Given the description of an element on the screen output the (x, y) to click on. 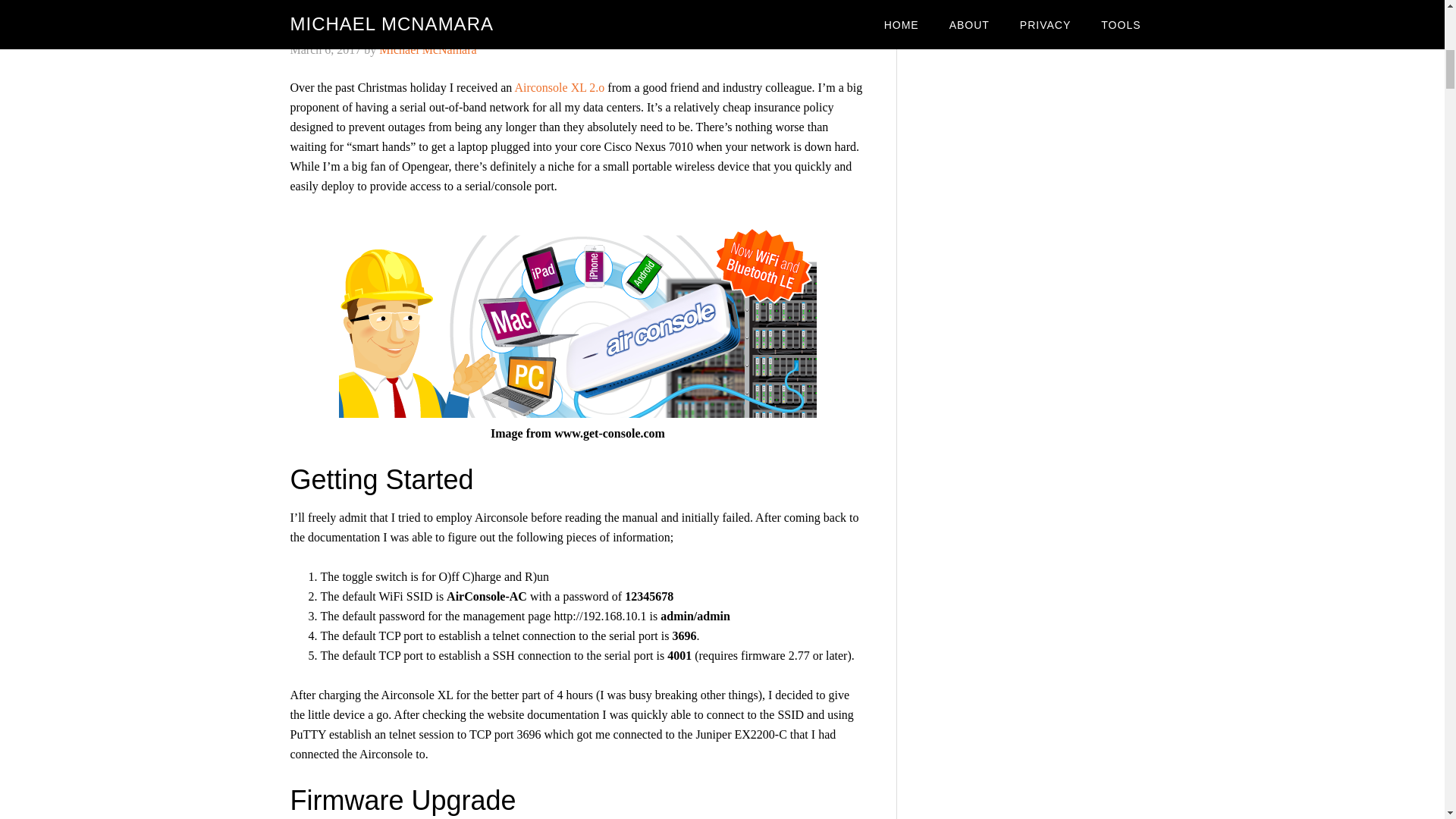
Michael McNamara (427, 49)
Airconsole XL 2.o (558, 87)
